Given the description of an element on the screen output the (x, y) to click on. 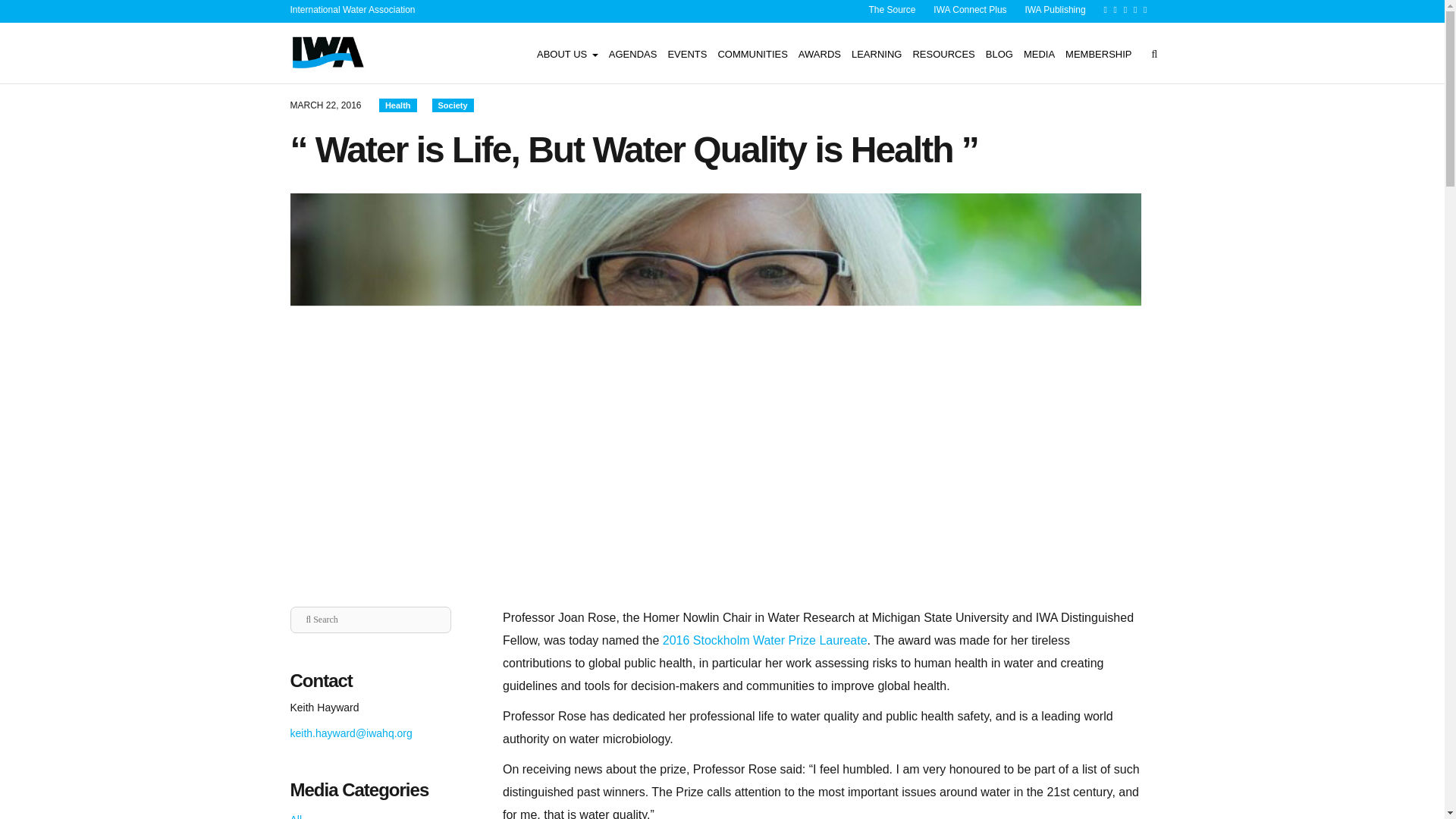
ABOUT US (567, 52)
RESOURCES (943, 52)
MEMBERSHIP (1098, 52)
COMMUNITIES (751, 52)
IWA Publishing (1054, 9)
Health (397, 104)
Society (452, 104)
2016 Stockholm Water Prize Laureate (764, 640)
The Source (892, 9)
AGENDAS (633, 52)
